Given the description of an element on the screen output the (x, y) to click on. 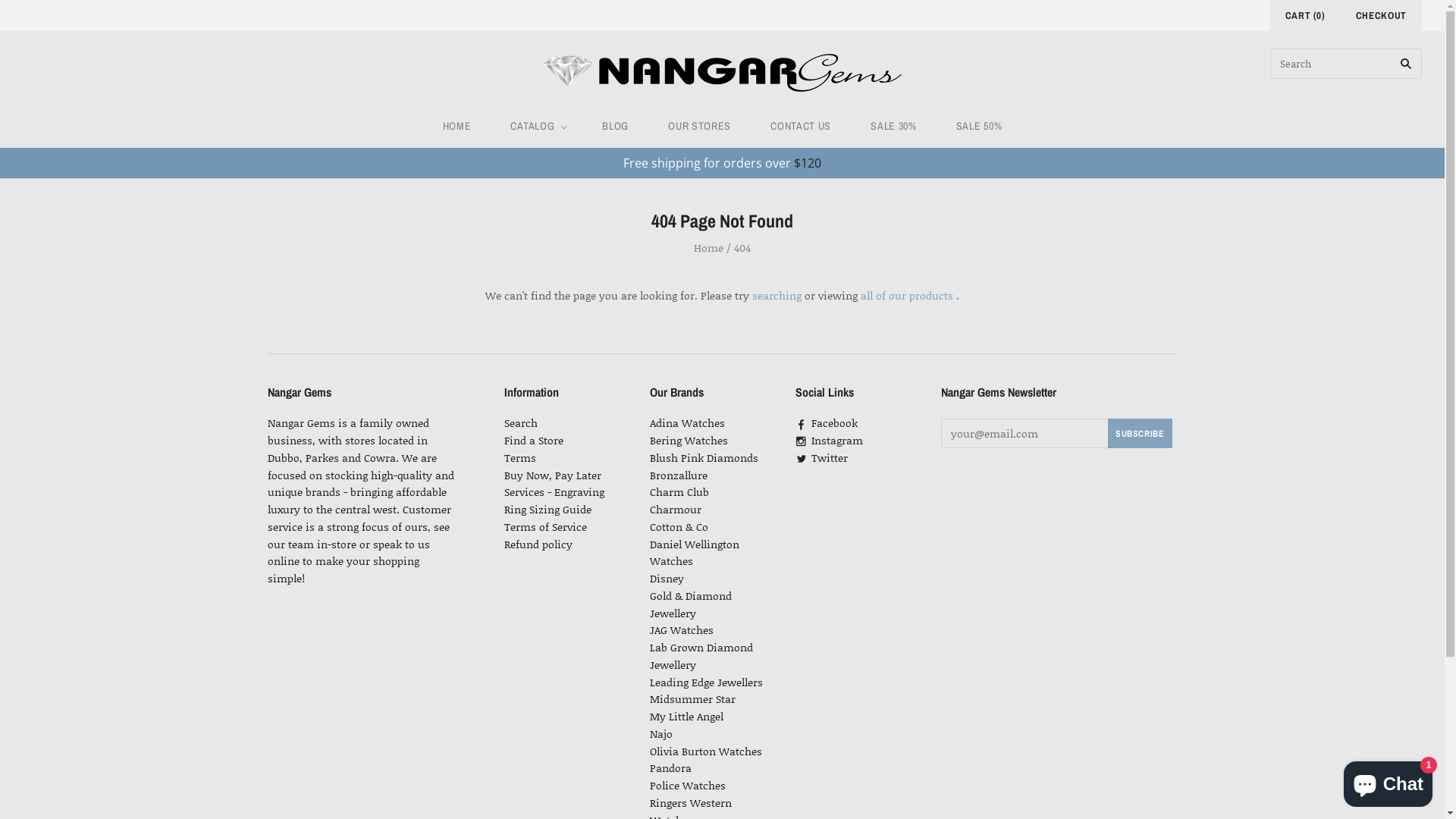
Find a Store Element type: text (532, 440)
Terms Element type: text (519, 457)
Najo Element type: text (660, 733)
Lab Grown Diamond Jewellery Element type: text (700, 655)
Twitter Element type: text (820, 457)
Leading Edge Jewellers Element type: text (705, 682)
Midsummer Star Element type: text (691, 698)
Disney Element type: text (666, 578)
Ring Sizing Guide Element type: text (546, 509)
CATALOG Element type: text (536, 125)
Police Watches Element type: text (686, 785)
Search Element type: text (519, 422)
My Little Angel Element type: text (685, 716)
Cotton & Co Element type: text (678, 526)
CHECKOUT Element type: text (1380, 15)
OUR STORES Element type: text (699, 125)
Home Element type: text (708, 247)
all of our products Element type: text (906, 295)
Charmour Element type: text (674, 509)
Charm Club Element type: text (678, 491)
Buy Now, Pay Later Element type: text (551, 475)
CART (0) Element type: text (1305, 15)
Pandora Element type: text (669, 767)
Olivia Burton Watches Element type: text (705, 751)
Refund policy Element type: text (537, 544)
Adina Watches Element type: text (686, 422)
Blush Pink Diamonds Element type: text (703, 457)
Subscribe Element type: text (1139, 433)
Gold & Diamond Jewellery Element type: text (690, 604)
Daniel Wellington Watches Element type: text (693, 552)
SALE 30% Element type: text (893, 125)
Shopify online store chat Element type: hover (1388, 780)
SALE 50% Element type: text (979, 125)
searching Element type: text (776, 295)
JAG Watches Element type: text (680, 629)
Terms of Service Element type: text (544, 526)
CONTACT US Element type: text (800, 125)
Services - Engraving Element type: text (553, 491)
Instagram Element type: text (828, 440)
Facebook Element type: text (825, 422)
Bering Watches Element type: text (688, 440)
HOME Element type: text (457, 125)
Bronzallure Element type: text (677, 475)
BLOG Element type: text (615, 125)
